Given the description of an element on the screen output the (x, y) to click on. 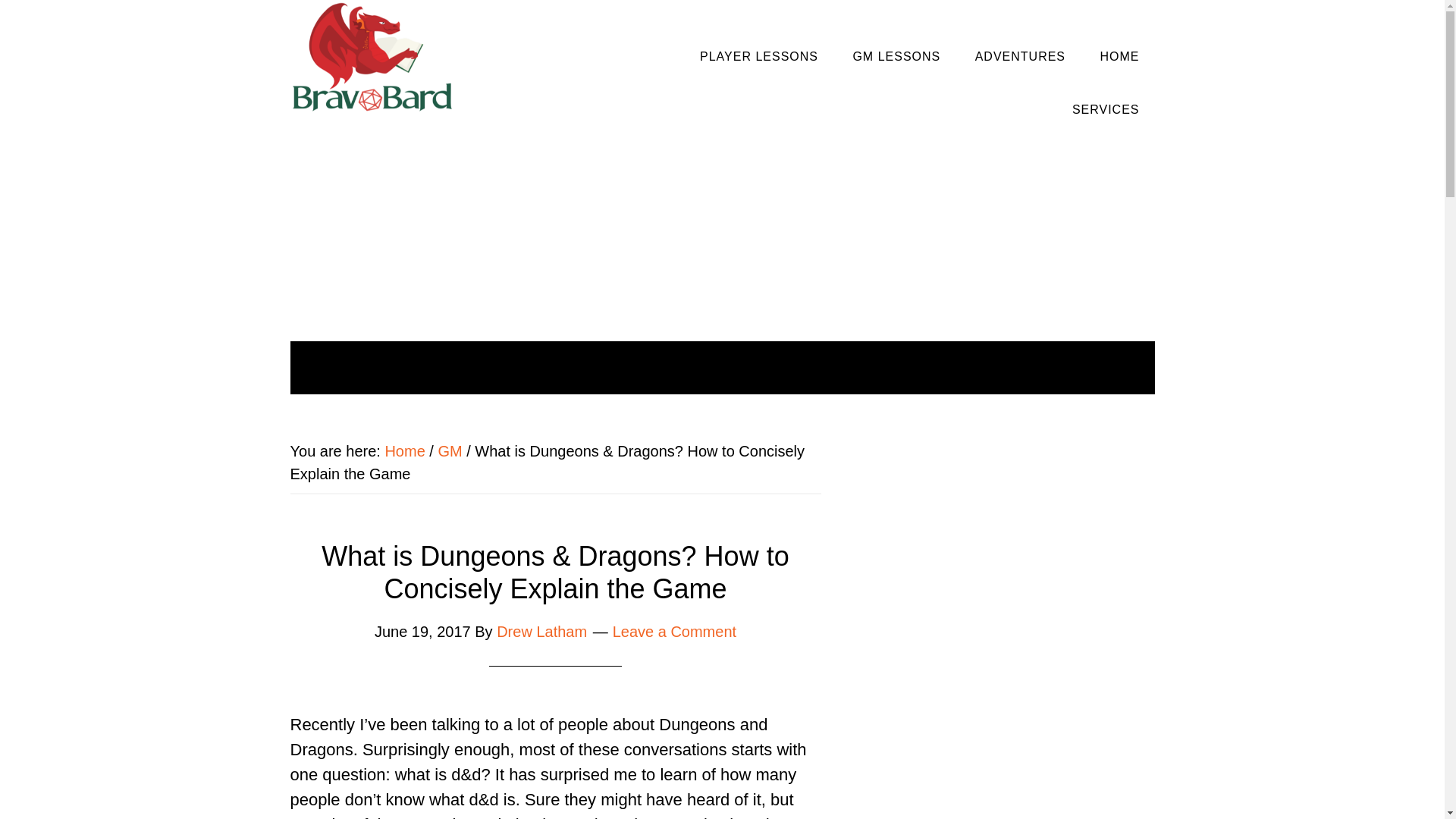
Home (404, 451)
BRAVO BARD (370, 62)
GM (449, 451)
PLAYER LESSONS (510, 367)
PLAYER LESSONS (758, 56)
ADVENTURES (1019, 56)
SERVICES (1105, 109)
Leave a Comment (674, 631)
GM LESSONS (648, 367)
GM LESSONS (896, 56)
HOME (1119, 56)
SERVICES (960, 367)
ADVENTURES (771, 367)
HOME (870, 367)
